Given the description of an element on the screen output the (x, y) to click on. 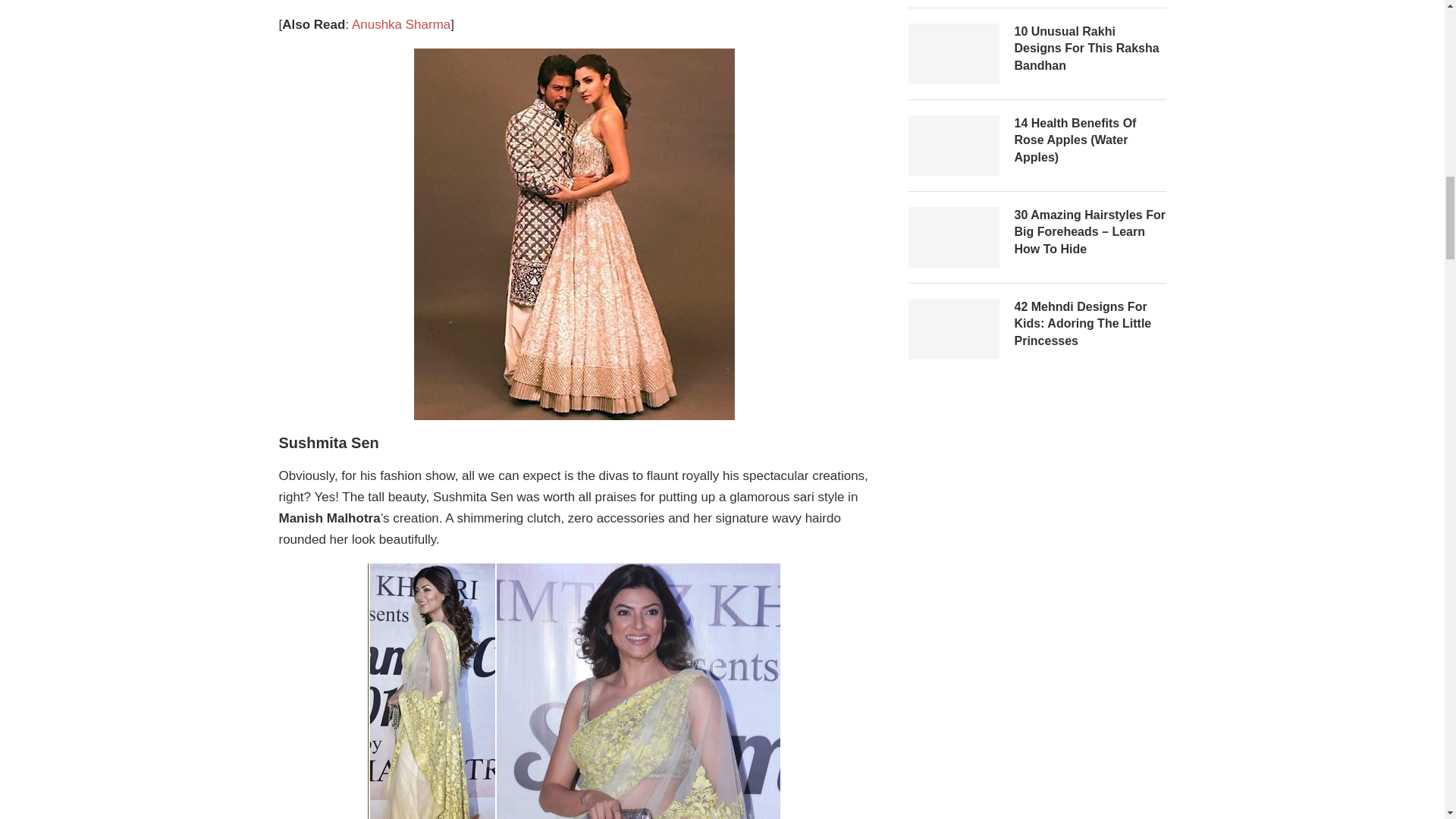
Anushka Sharma (400, 24)
